Given the description of an element on the screen output the (x, y) to click on. 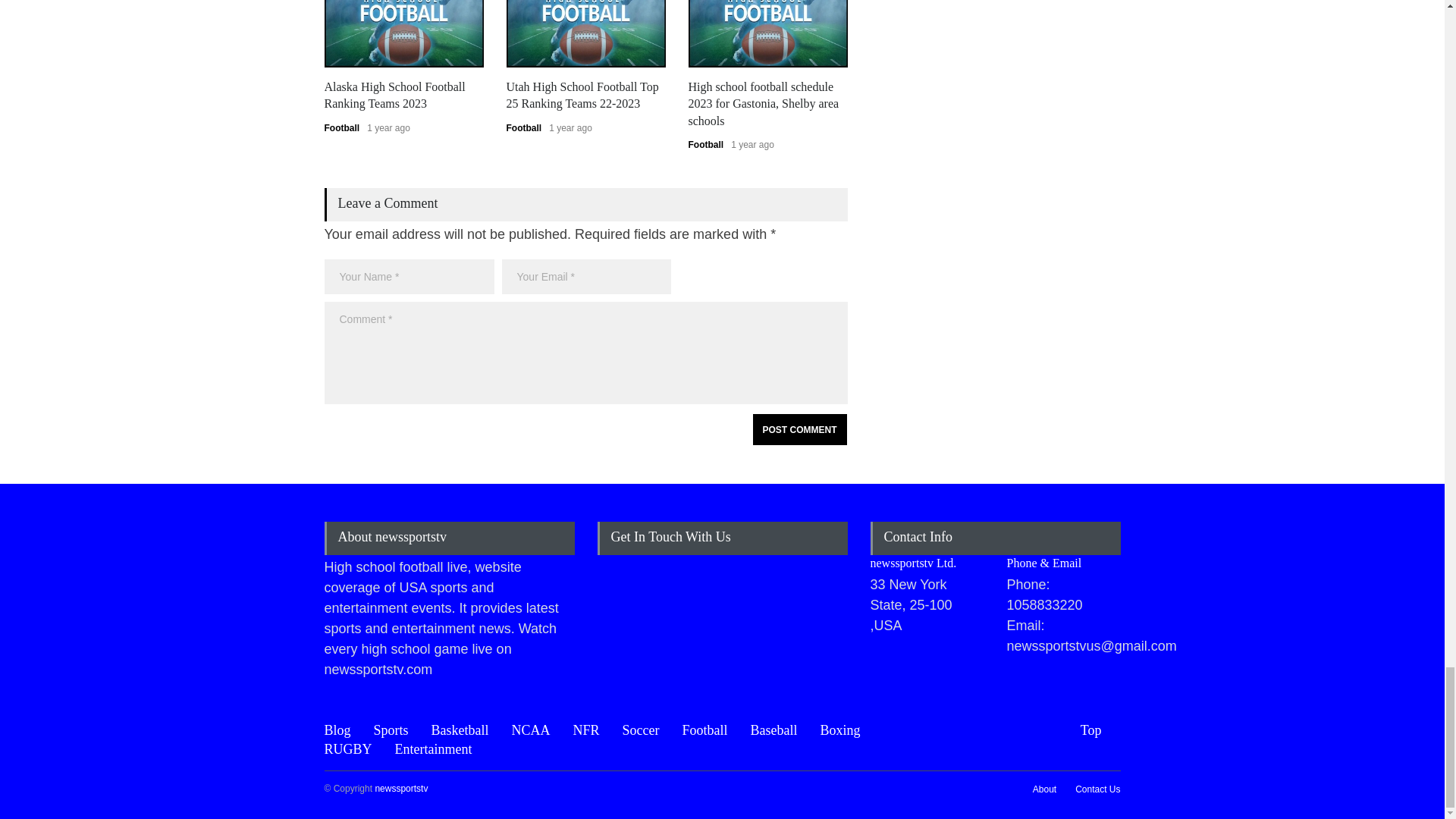
POST COMMENT (799, 429)
Top (1100, 730)
